Given the description of an element on the screen output the (x, y) to click on. 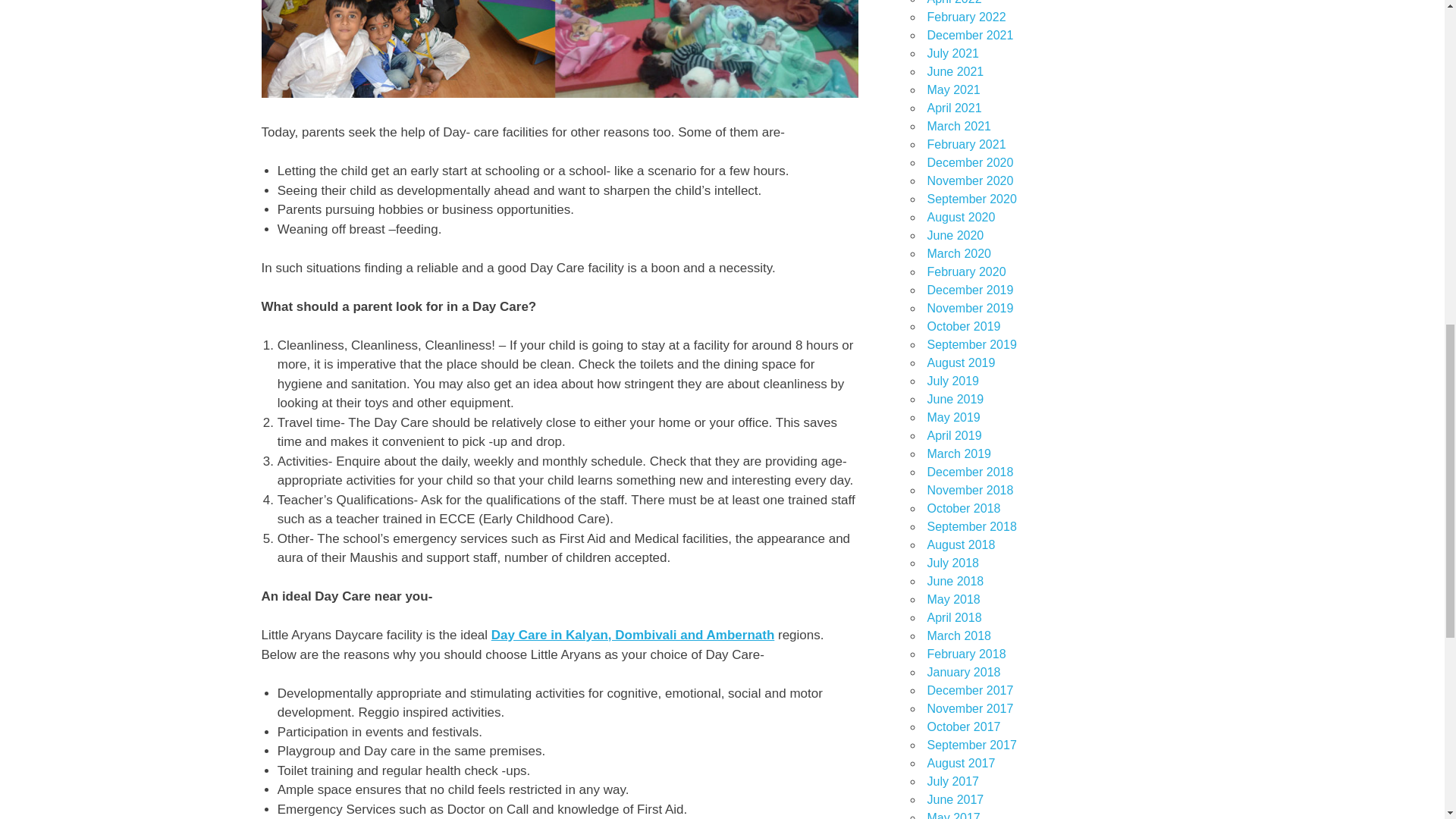
May 2021 (952, 89)
March 2021 (958, 125)
February 2022 (966, 16)
July 2021 (952, 52)
November 2020 (969, 180)
February 2021 (966, 144)
December 2021 (969, 34)
December 2020 (969, 162)
September 2020 (971, 198)
Day Care in Kalyan, Dombivali and Ambernath (633, 635)
April 2022 (953, 2)
April 2021 (953, 107)
June 2021 (955, 71)
